Given the description of an element on the screen output the (x, y) to click on. 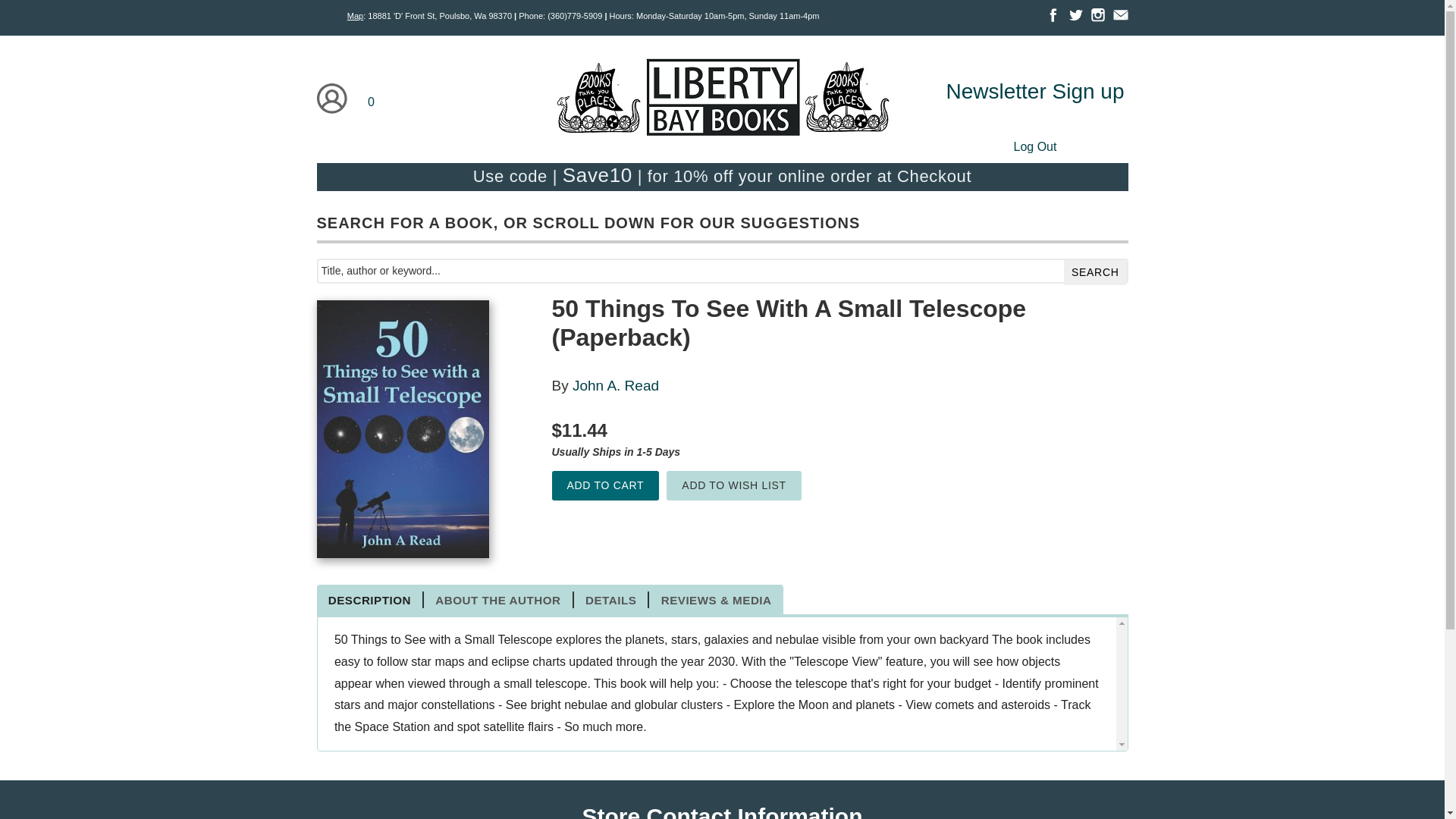
search (1095, 272)
John A. Read (615, 385)
Home (721, 99)
DESCRIPTION (371, 599)
Newsletter Sign up (1034, 91)
ABOUT THE AUTHOR (498, 599)
Title, author or keyword... (722, 270)
Add to Cart (605, 485)
ADD TO WISH LIST (733, 485)
search (1095, 272)
Log Out (1035, 146)
DETAILS (611, 599)
Map (354, 15)
Add to Cart (605, 485)
